Given the description of an element on the screen output the (x, y) to click on. 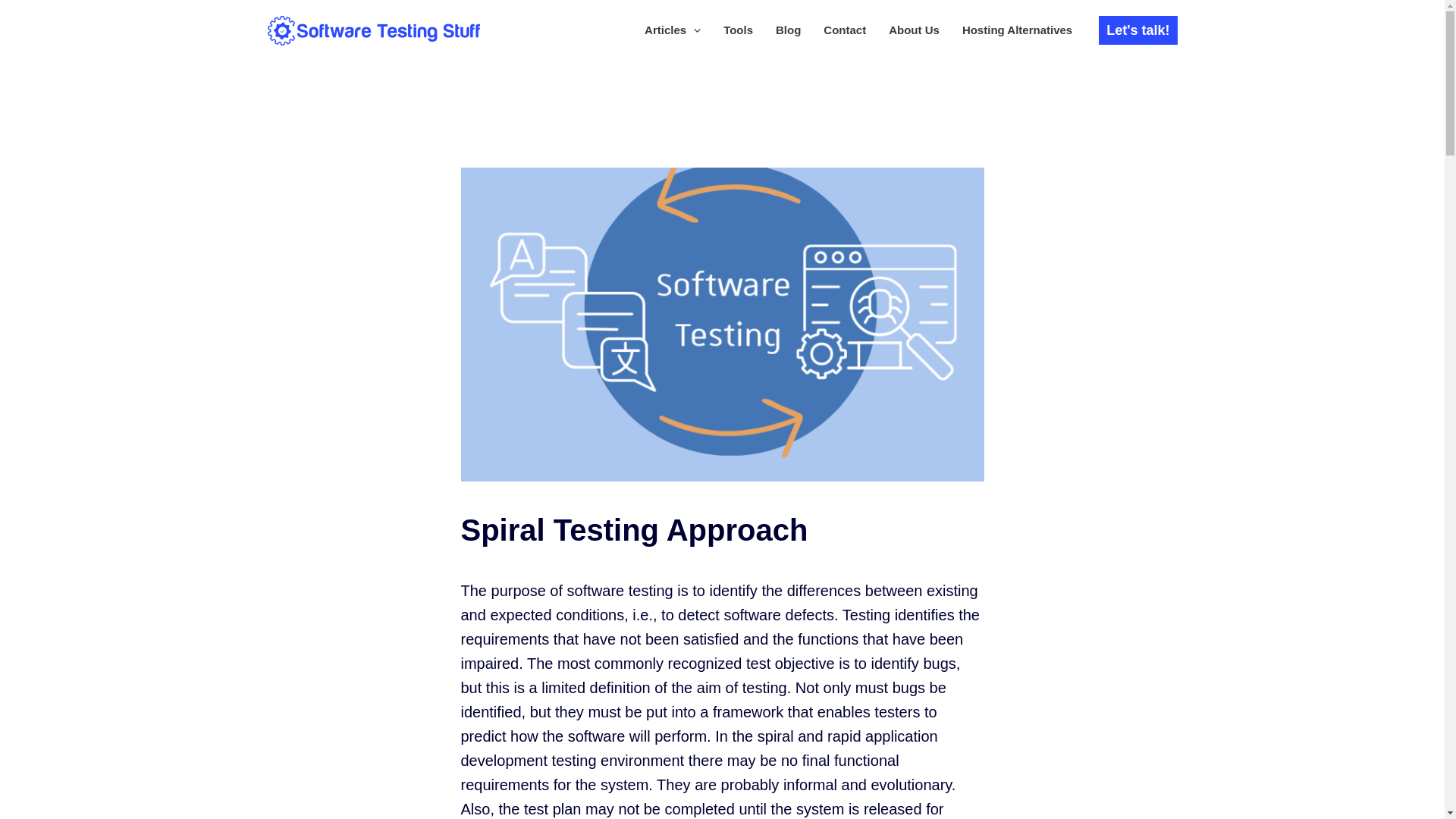
About Us (913, 30)
Let's talk! (1137, 30)
Hosting Alternatives (1016, 30)
Articles (672, 30)
Contact (844, 30)
